Given the description of an element on the screen output the (x, y) to click on. 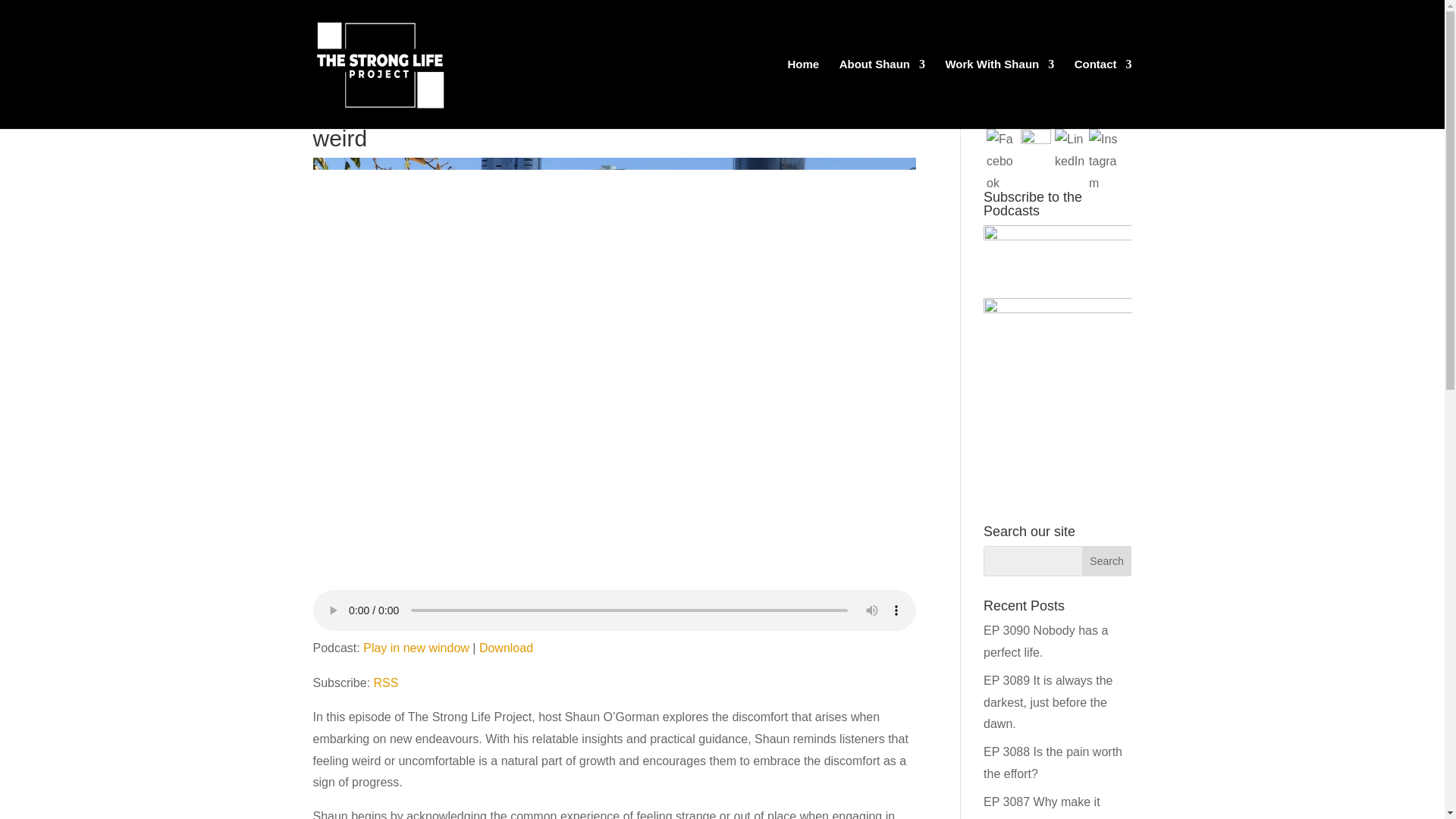
Download (505, 647)
EP 3090 Nobody has a perfect life. (1046, 641)
EP 3089 It is always the darkest, just before the dawn. (1048, 702)
Search (1106, 561)
Work With Shaun (999, 93)
Subscribe via RSS (386, 682)
EP 3088 Is the pain worth the effort? (1053, 762)
Search (1106, 561)
Download (505, 647)
Play in new window (415, 647)
